Given the description of an element on the screen output the (x, y) to click on. 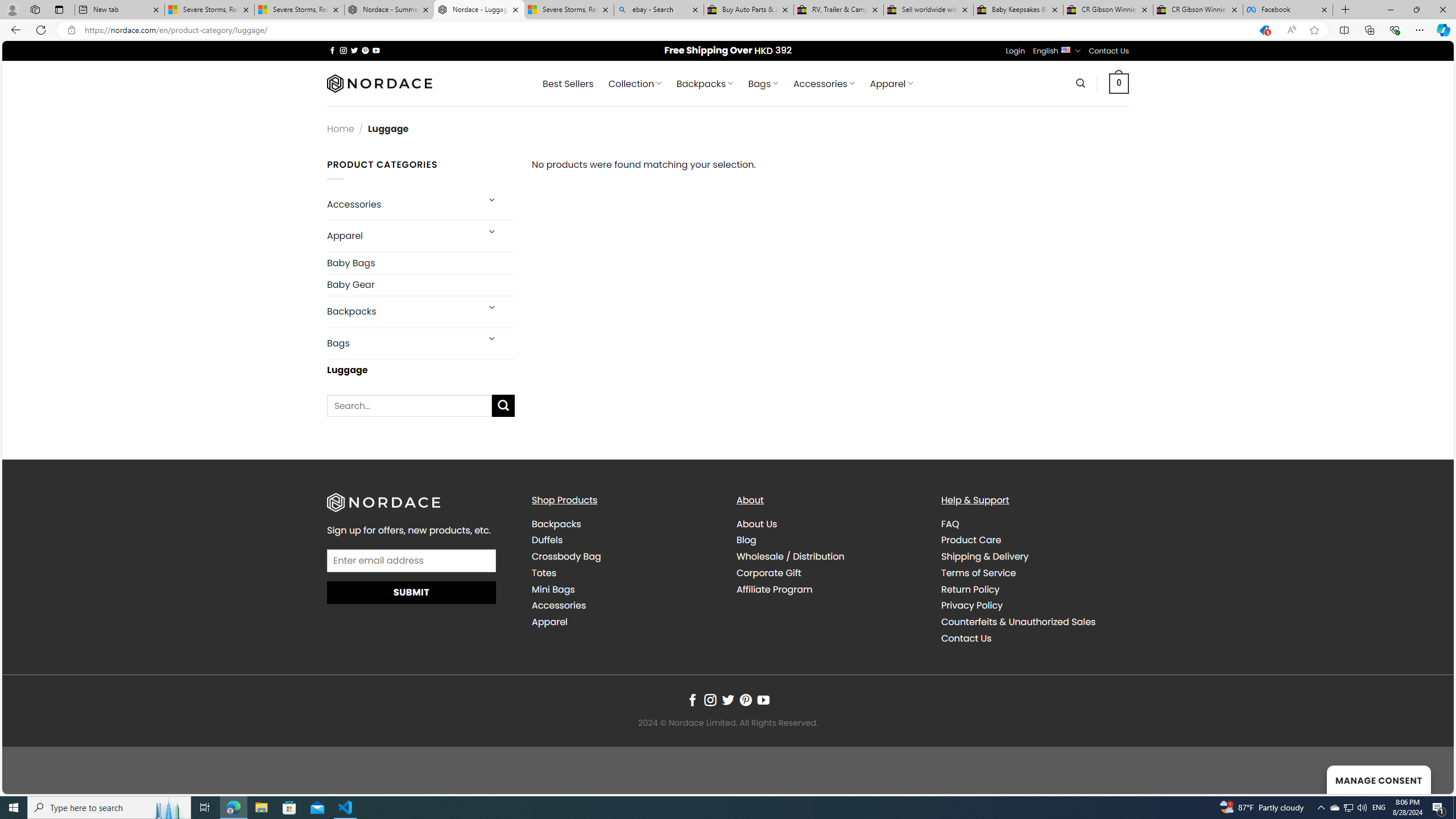
Nordace (379, 83)
Luggage (421, 369)
Crossbody Bag (625, 556)
Follow on YouTube (763, 700)
Close (1442, 9)
Contact Us (965, 638)
Corporate Gift (768, 572)
Counterfeits & Unauthorized Sales (1018, 621)
About Us (756, 523)
Login (1015, 50)
